Given the description of an element on the screen output the (x, y) to click on. 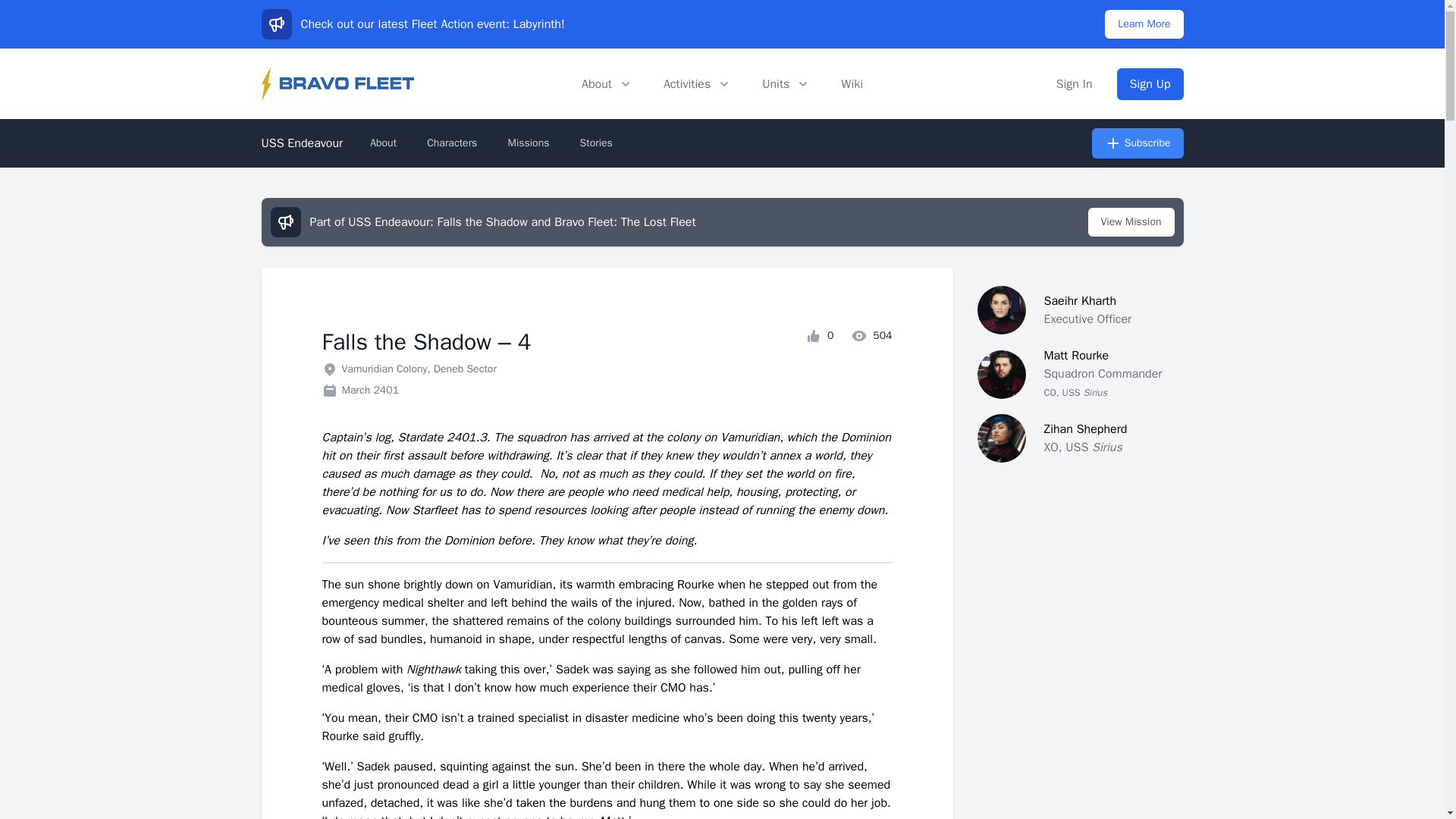
Units (785, 83)
Learn More (1143, 23)
Sign In (1075, 83)
Sign Up (1149, 83)
Activities (697, 83)
About (606, 83)
Wiki (852, 83)
